Given the description of an element on the screen output the (x, y) to click on. 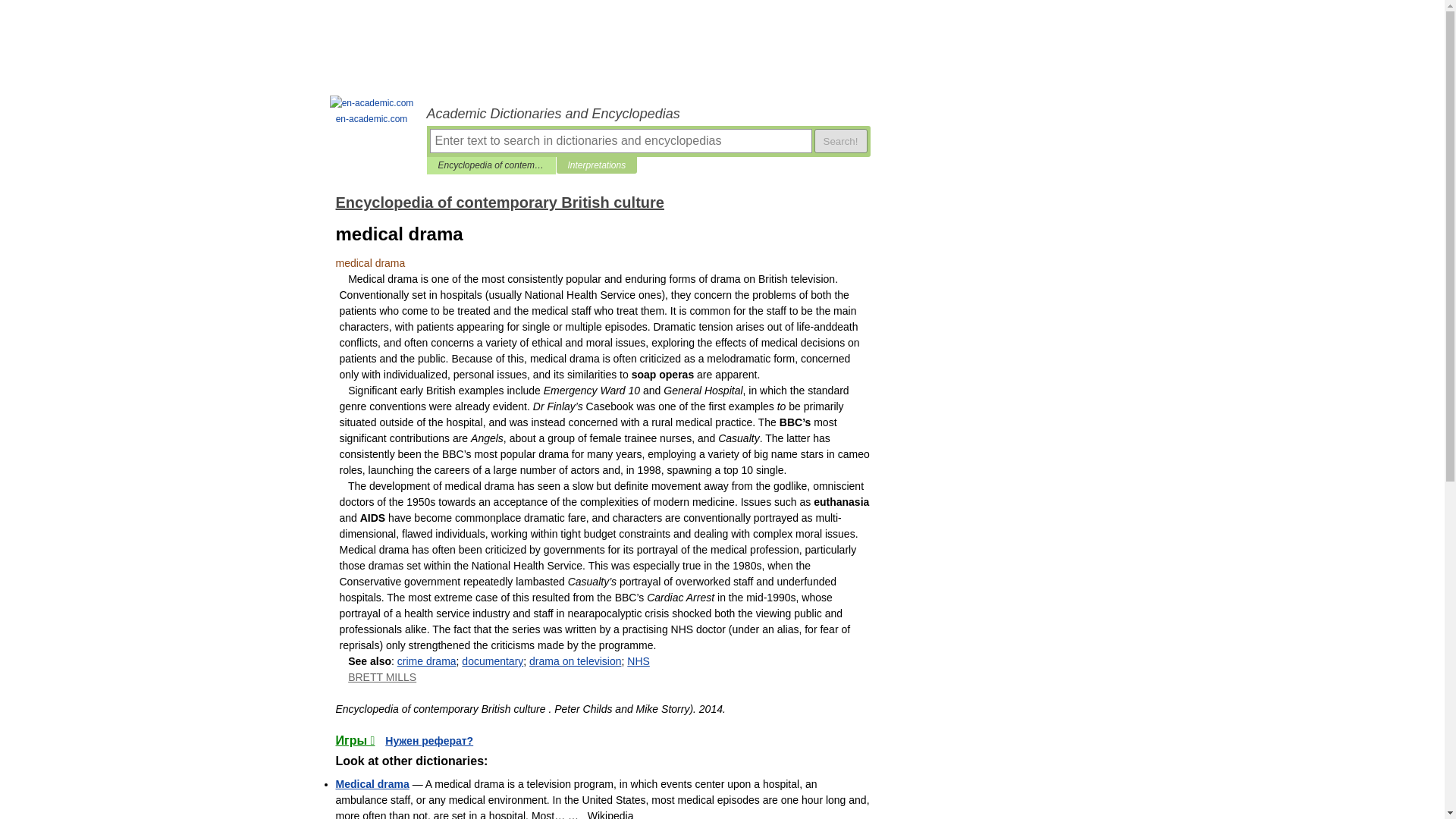
NHS (638, 661)
Academic Dictionaries and Encyclopedias (647, 114)
Interpretations (596, 165)
Search! (840, 140)
crime drama (427, 661)
drama on television (575, 661)
documentary (491, 661)
Encyclopedia of contemporary British culture (491, 165)
Encyclopedia of contemporary British culture (498, 202)
Enter text to search in dictionaries and encyclopedias (619, 140)
en-academic.com (371, 111)
Medical drama (371, 784)
